Given the description of an element on the screen output the (x, y) to click on. 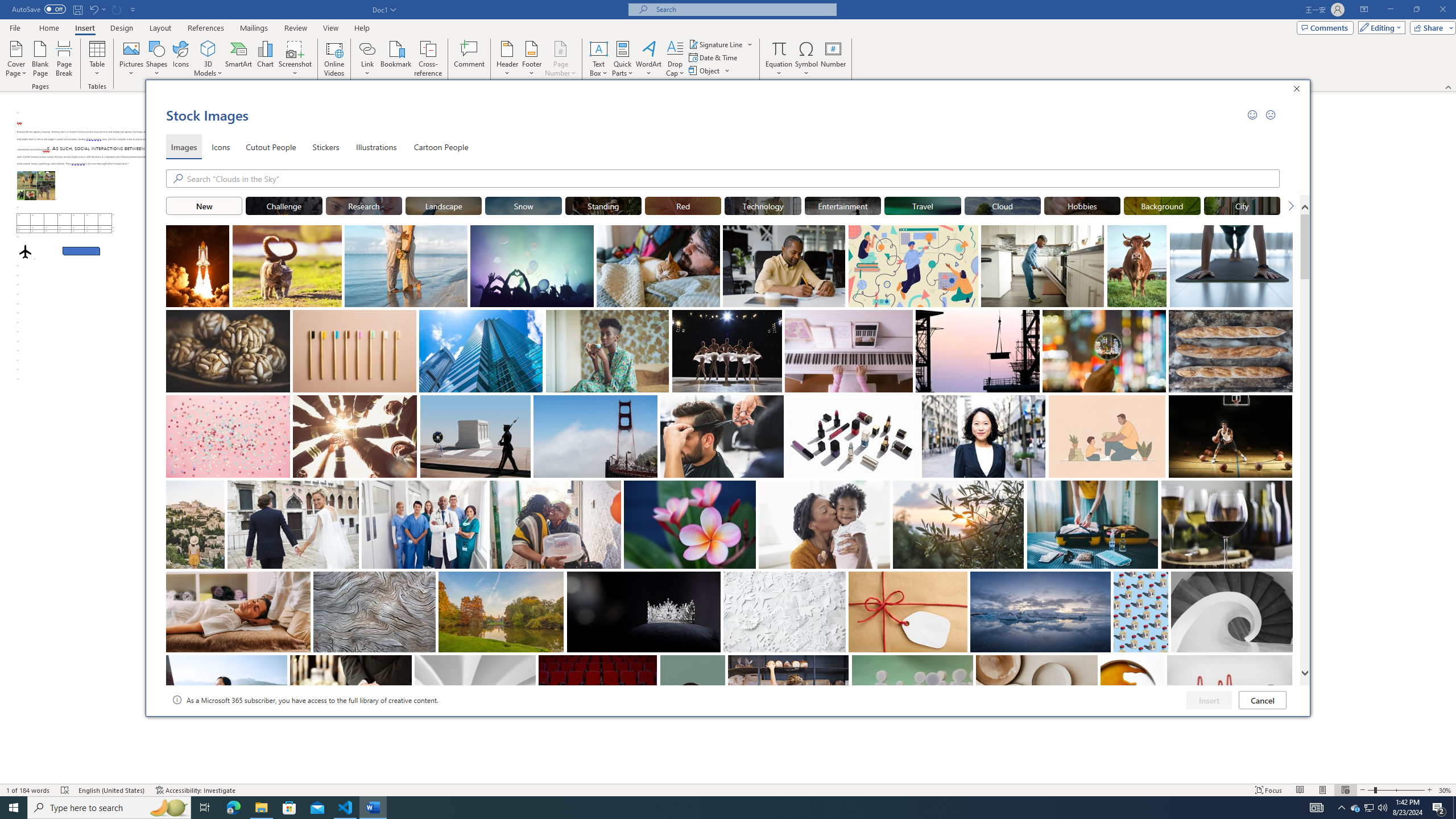
"Snow" Stock Images. (523, 205)
Link (367, 58)
Object... (705, 69)
Icons (180, 58)
Airplane with solid fill (25, 251)
